Given the description of an element on the screen output the (x, y) to click on. 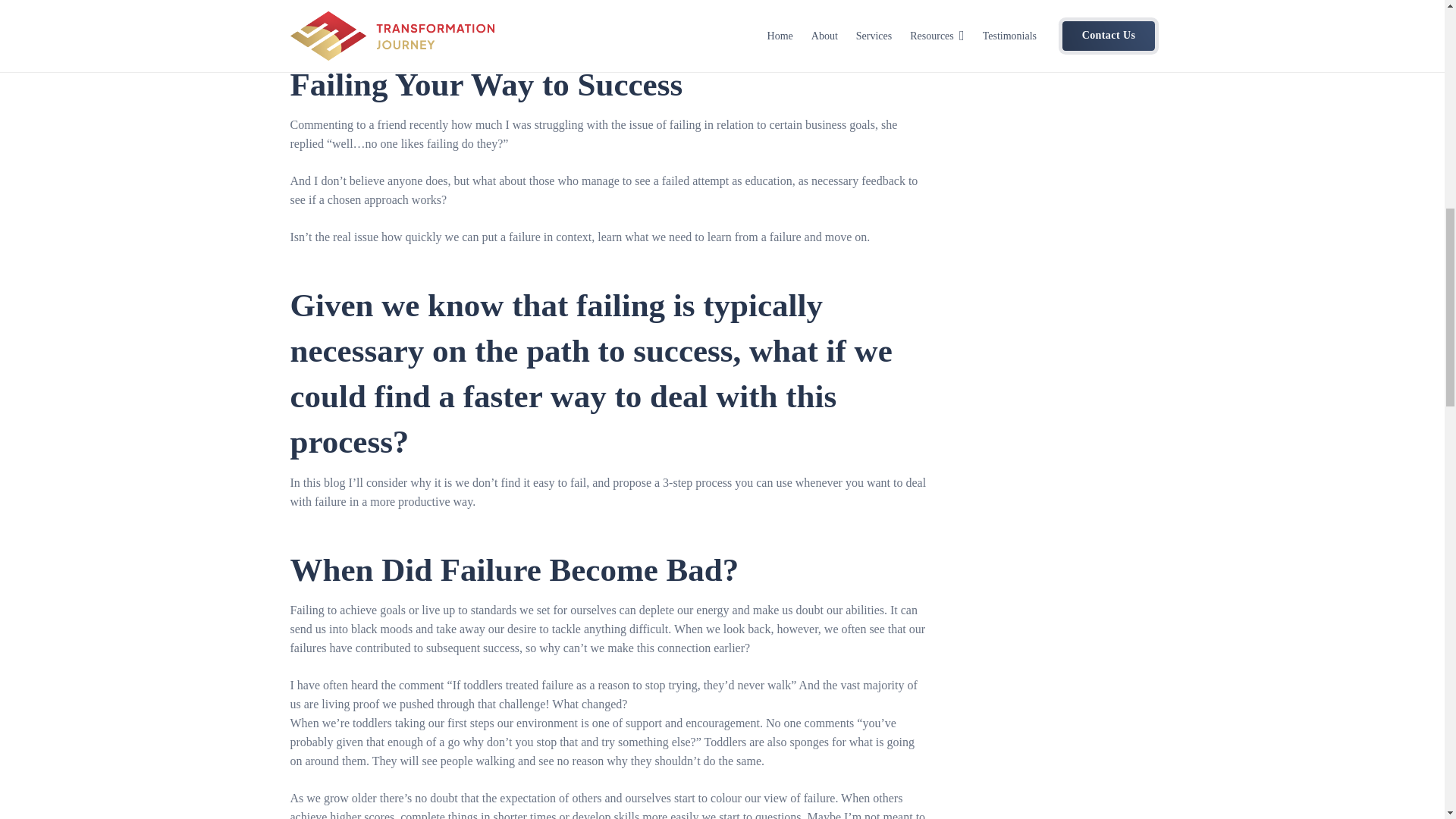
Back to top (30, 30)
